Given the description of an element on the screen output the (x, y) to click on. 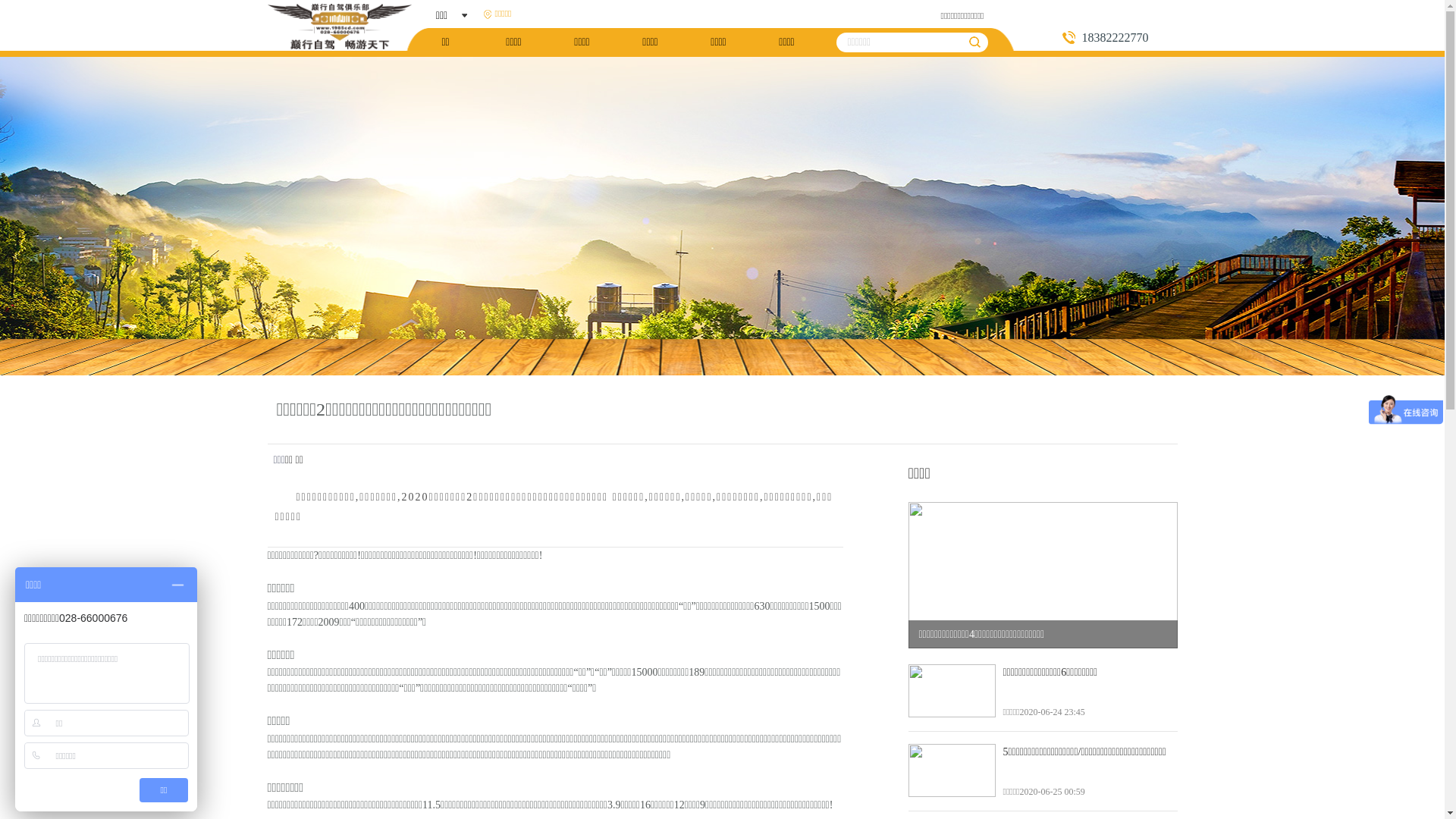
18382222770 Element type: text (1118, 37)
